Given the description of an element on the screen output the (x, y) to click on. 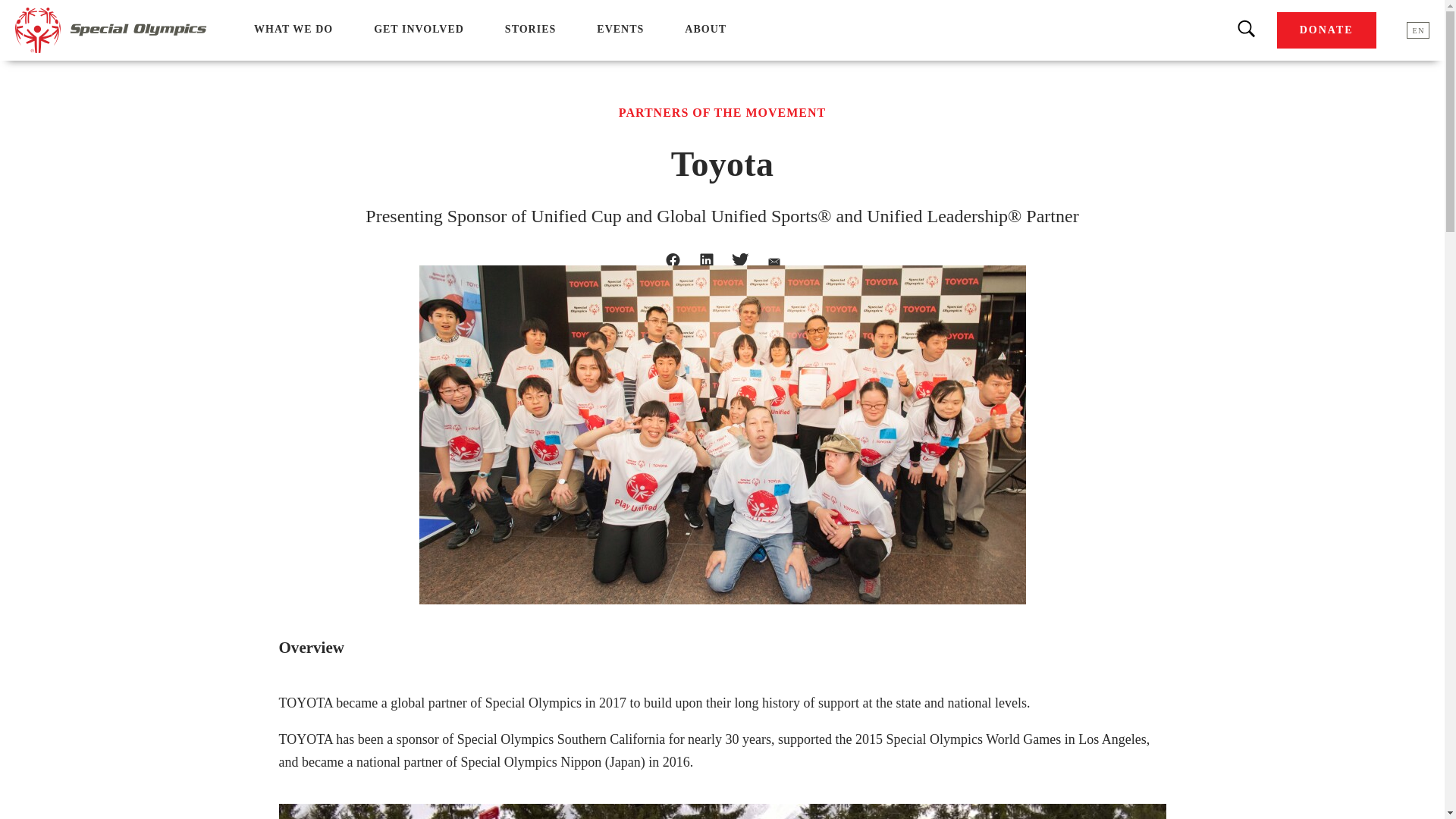
ABOUT (705, 29)
EVENTS (619, 29)
STORIES (530, 29)
GET INVOLVED (419, 29)
WHAT WE DO (293, 29)
